Given the description of an element on the screen output the (x, y) to click on. 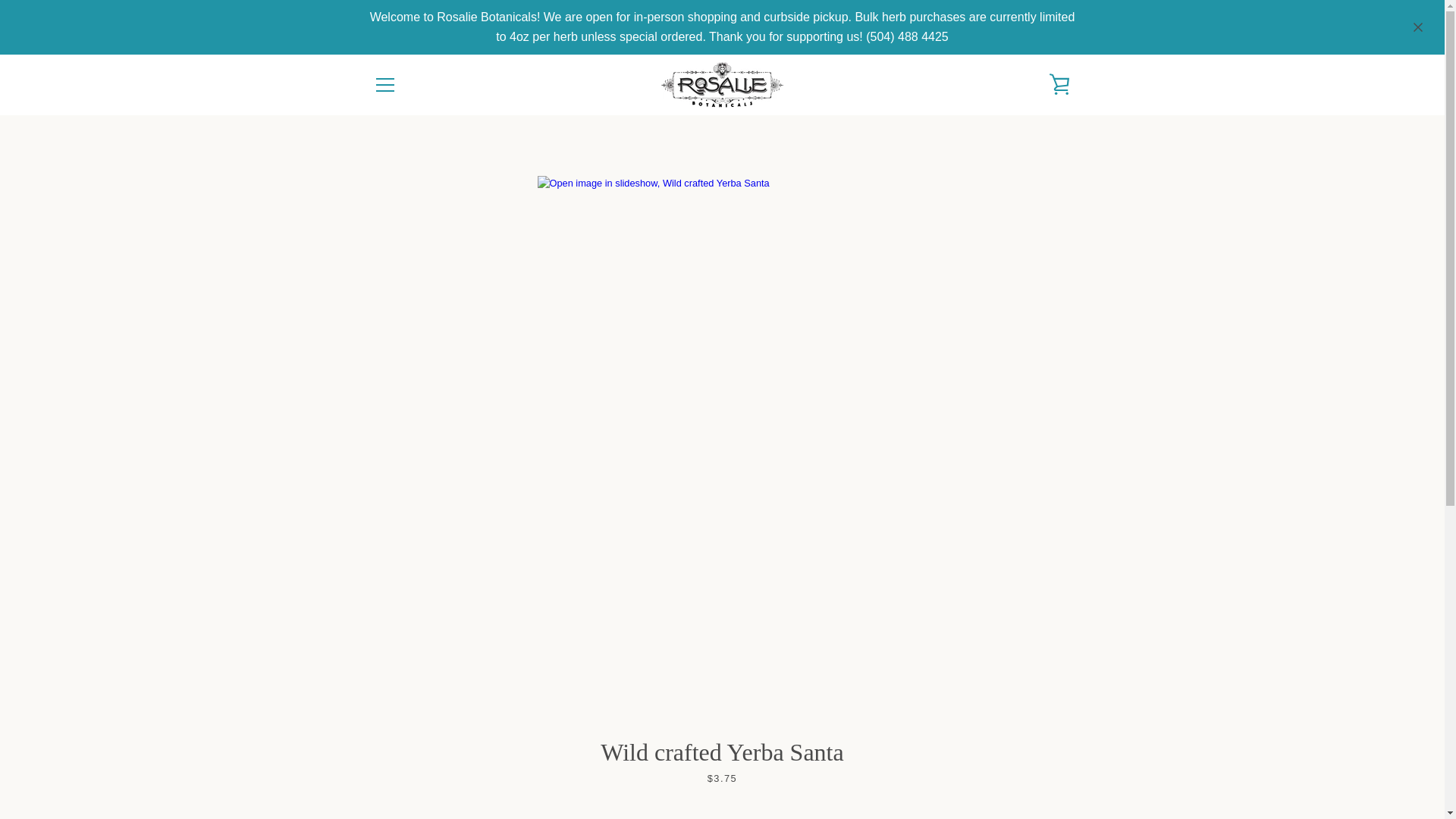
American Express (883, 755)
MENU (384, 85)
Discover (988, 755)
Venmo (1022, 778)
Rosalie Botanicals on Facebook (372, 765)
VIEW CART (1059, 85)
PayPal (953, 778)
Diners Club (953, 755)
Apple Pay (918, 755)
